Given the description of an element on the screen output the (x, y) to click on. 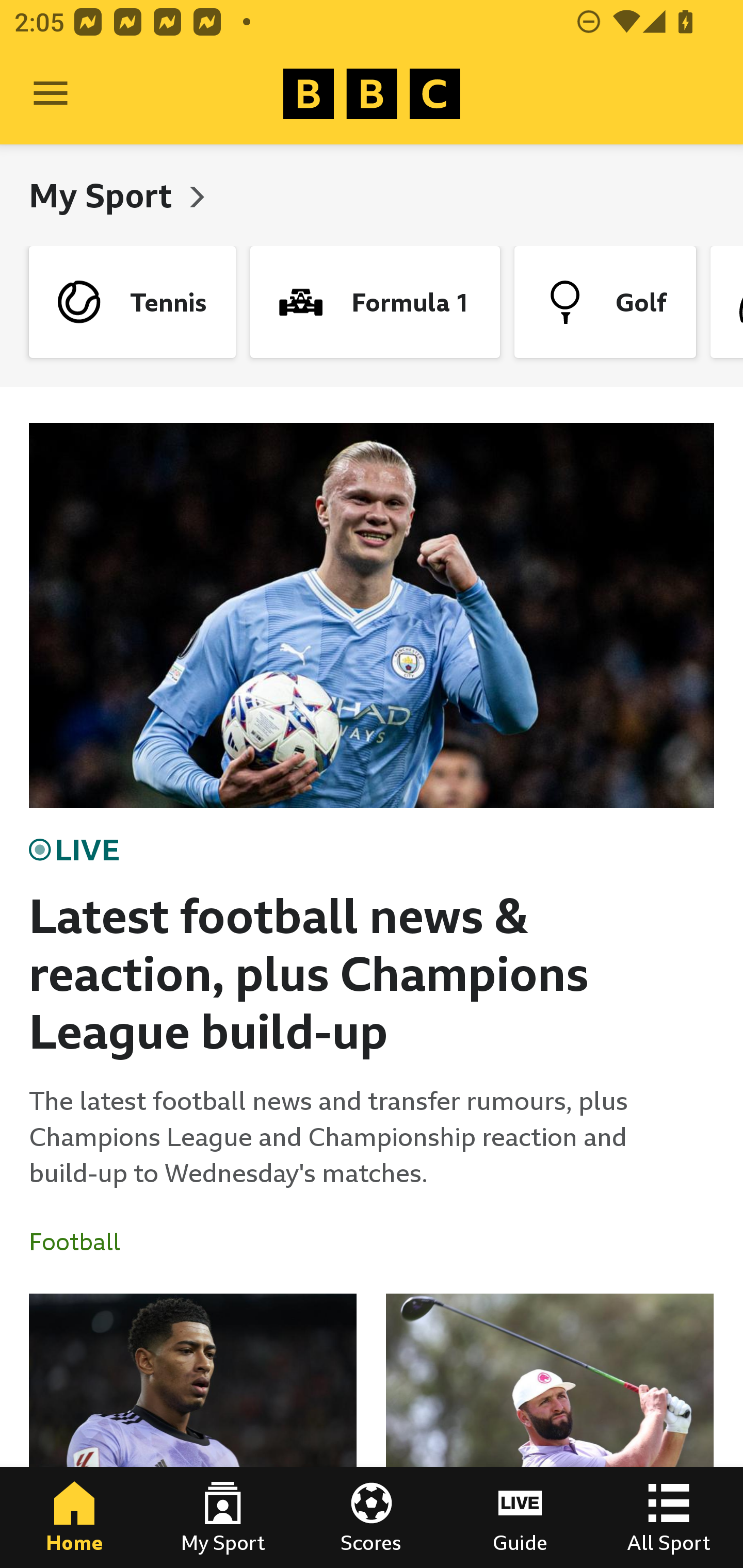
Open Menu (50, 93)
My Sport (104, 195)
Football In the section Football (81, 1241)
Real midfielder Bellingham banned for two games (192, 1430)
My Sport (222, 1517)
Scores (371, 1517)
Guide (519, 1517)
All Sport (668, 1517)
